Given the description of an element on the screen output the (x, y) to click on. 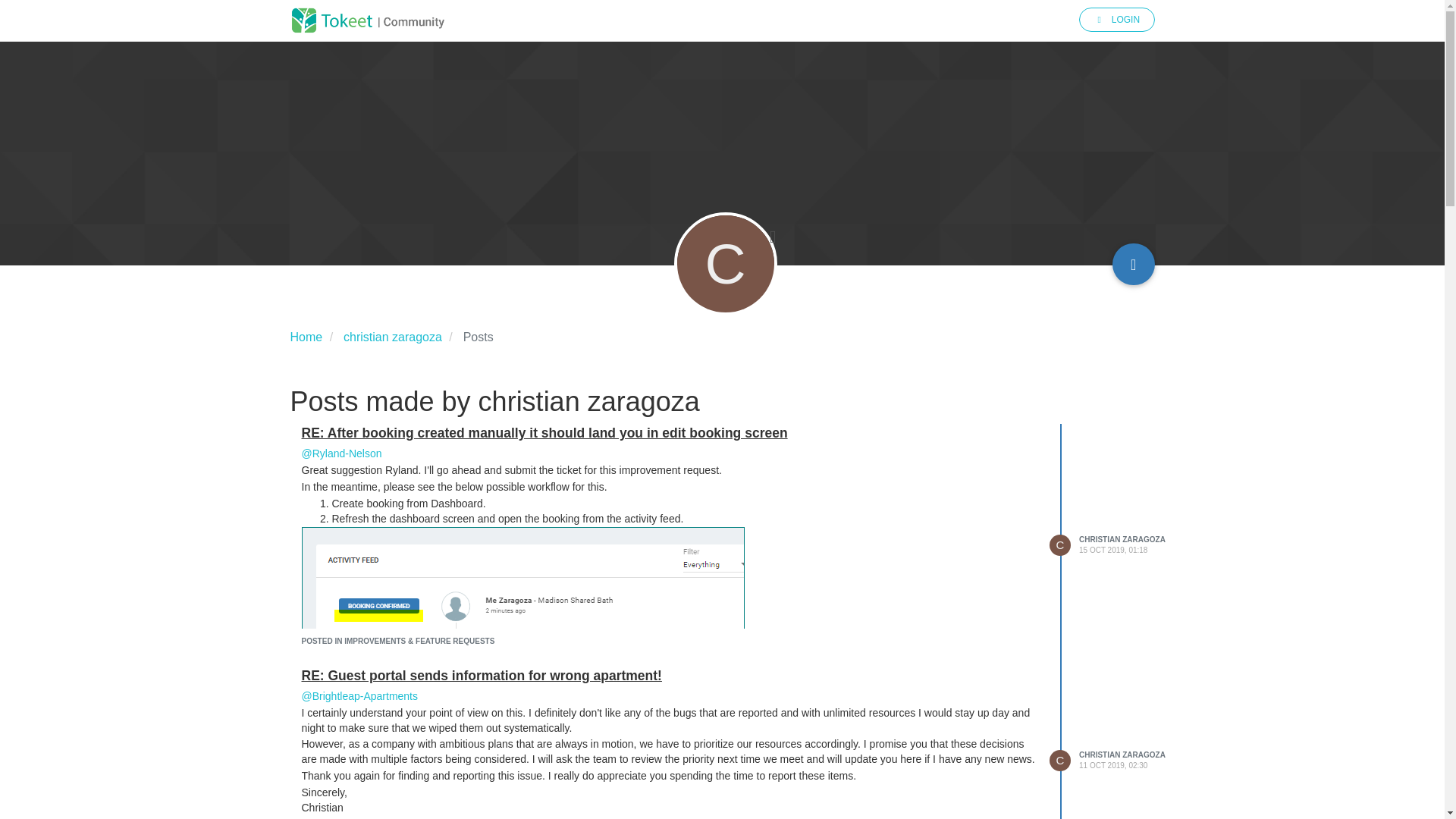
christian zaragoza (392, 336)
15 Oct 2019, 01:18 (1112, 550)
Home (305, 336)
LOGIN (1116, 19)
11 Oct 2019, 02:30 (1112, 765)
RE: Guest portal sends information for wrong apartment! (481, 675)
Offline (773, 236)
CHRISTIAN ZARAGOZA (1122, 539)
